Given the description of an element on the screen output the (x, y) to click on. 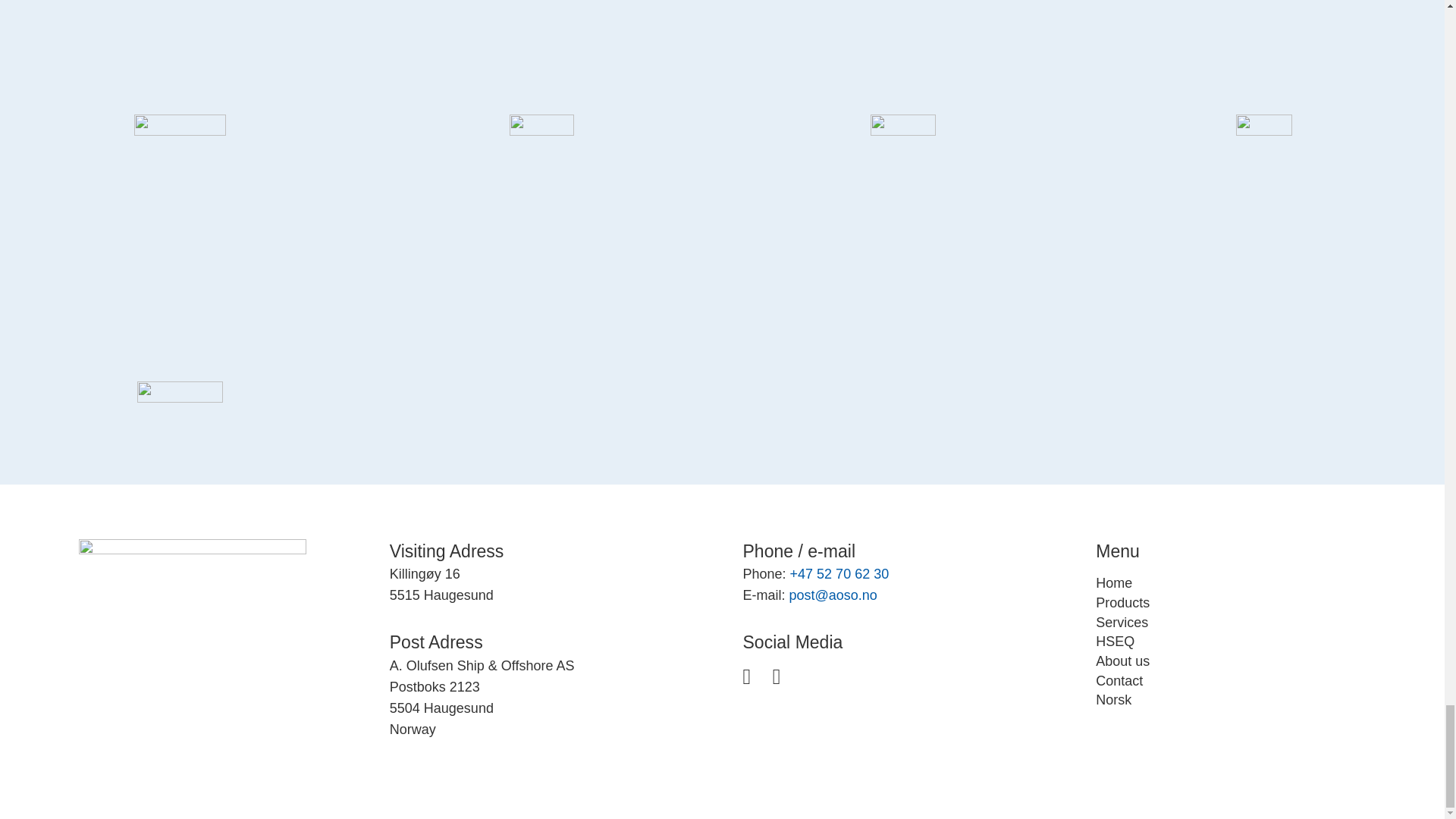
LinkedIn (776, 676)
Products (1123, 602)
Home (1114, 582)
Services (1122, 622)
Facebook (746, 676)
